Given the description of an element on the screen output the (x, y) to click on. 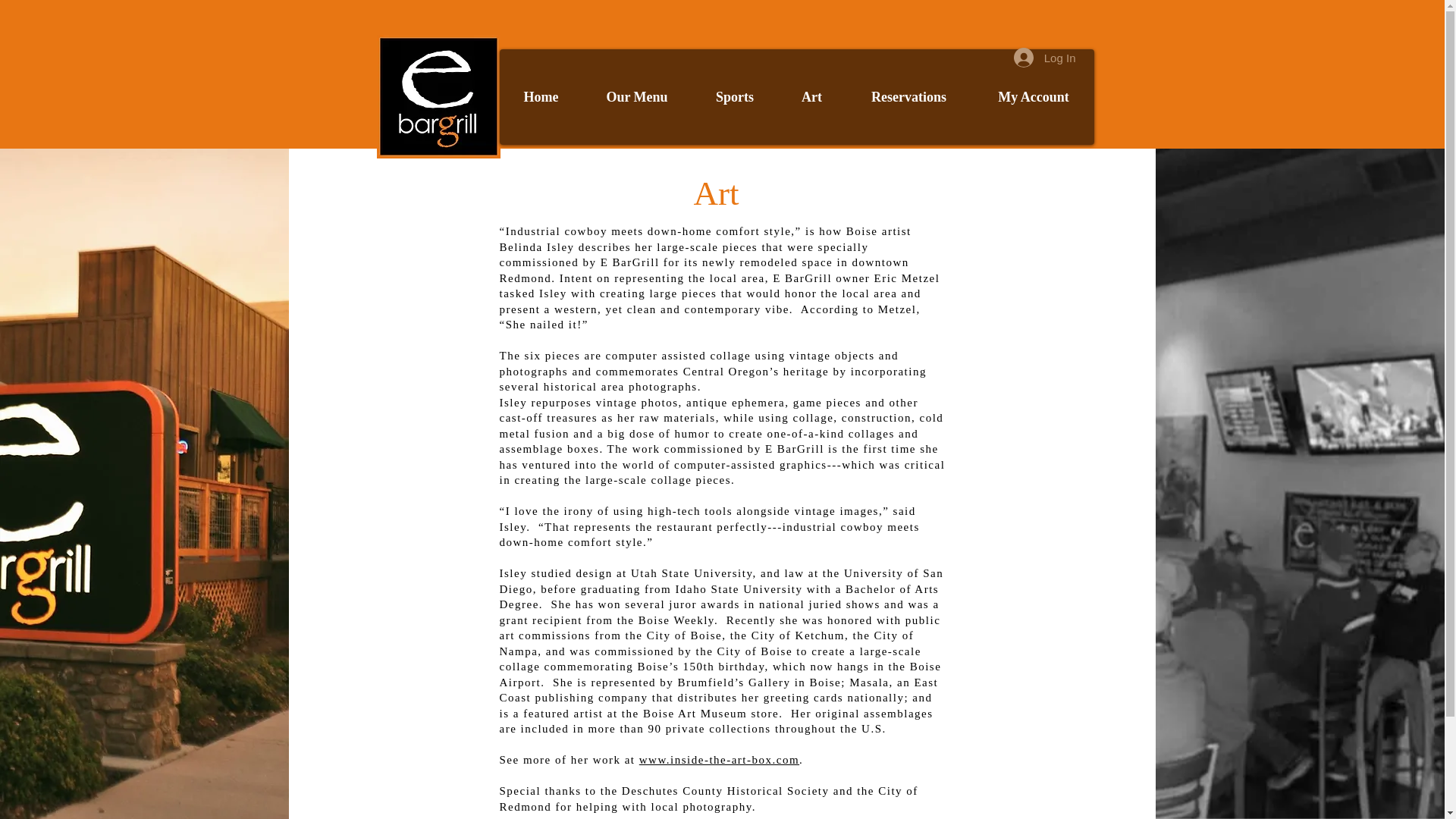
Sports (733, 96)
Log In (1044, 57)
Our Menu (636, 96)
www.inside-the-art-box.com (719, 759)
Reservations (908, 96)
My Account (1032, 96)
